Given the description of an element on the screen output the (x, y) to click on. 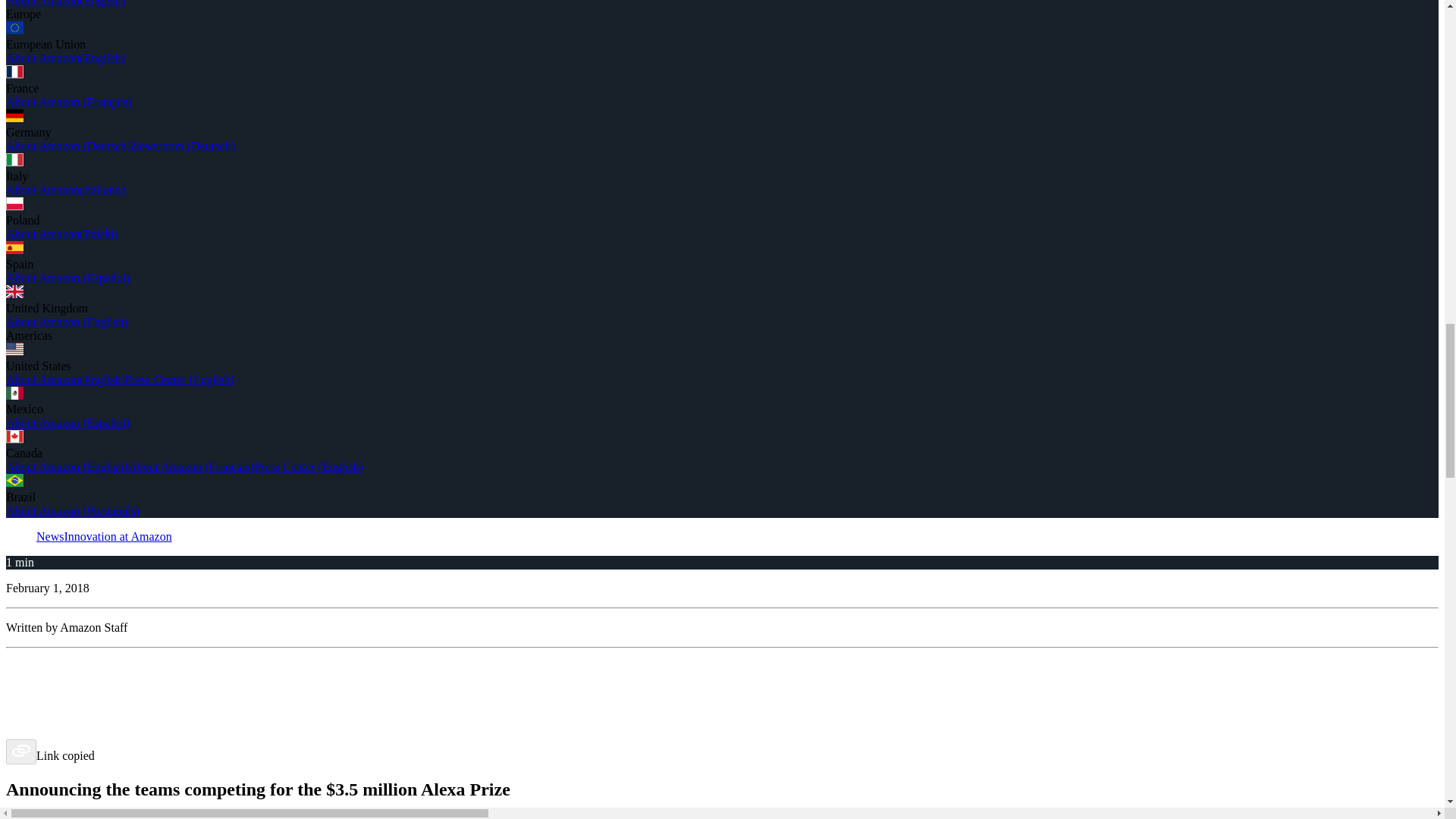
Facebook Share (721, 664)
Twitter Share (721, 685)
copy link (20, 751)
email (721, 728)
LinkedIn Share (721, 707)
